Given the description of an element on the screen output the (x, y) to click on. 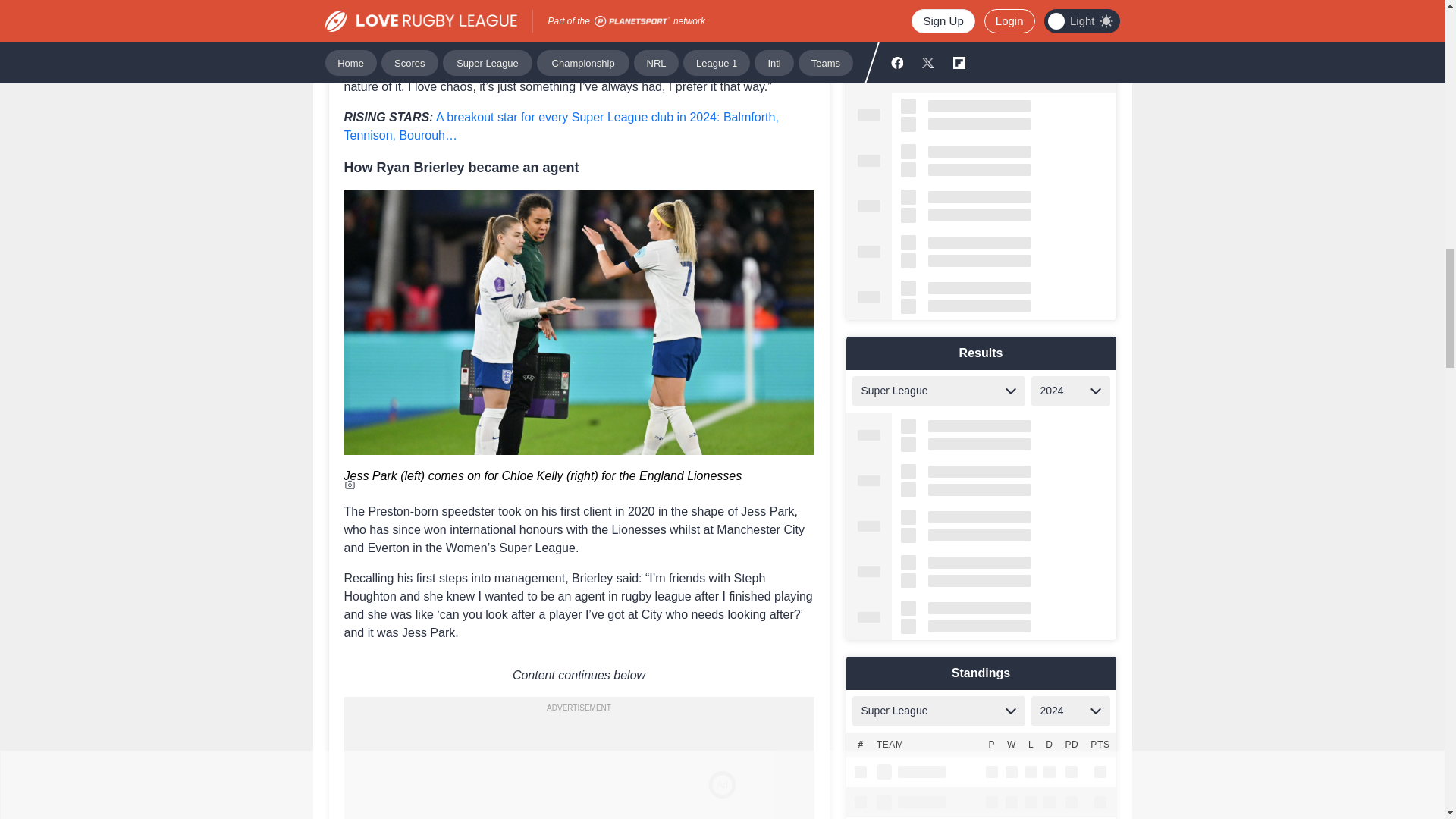
Ad (578, 757)
Content continues below (578, 675)
